Given the description of an element on the screen output the (x, y) to click on. 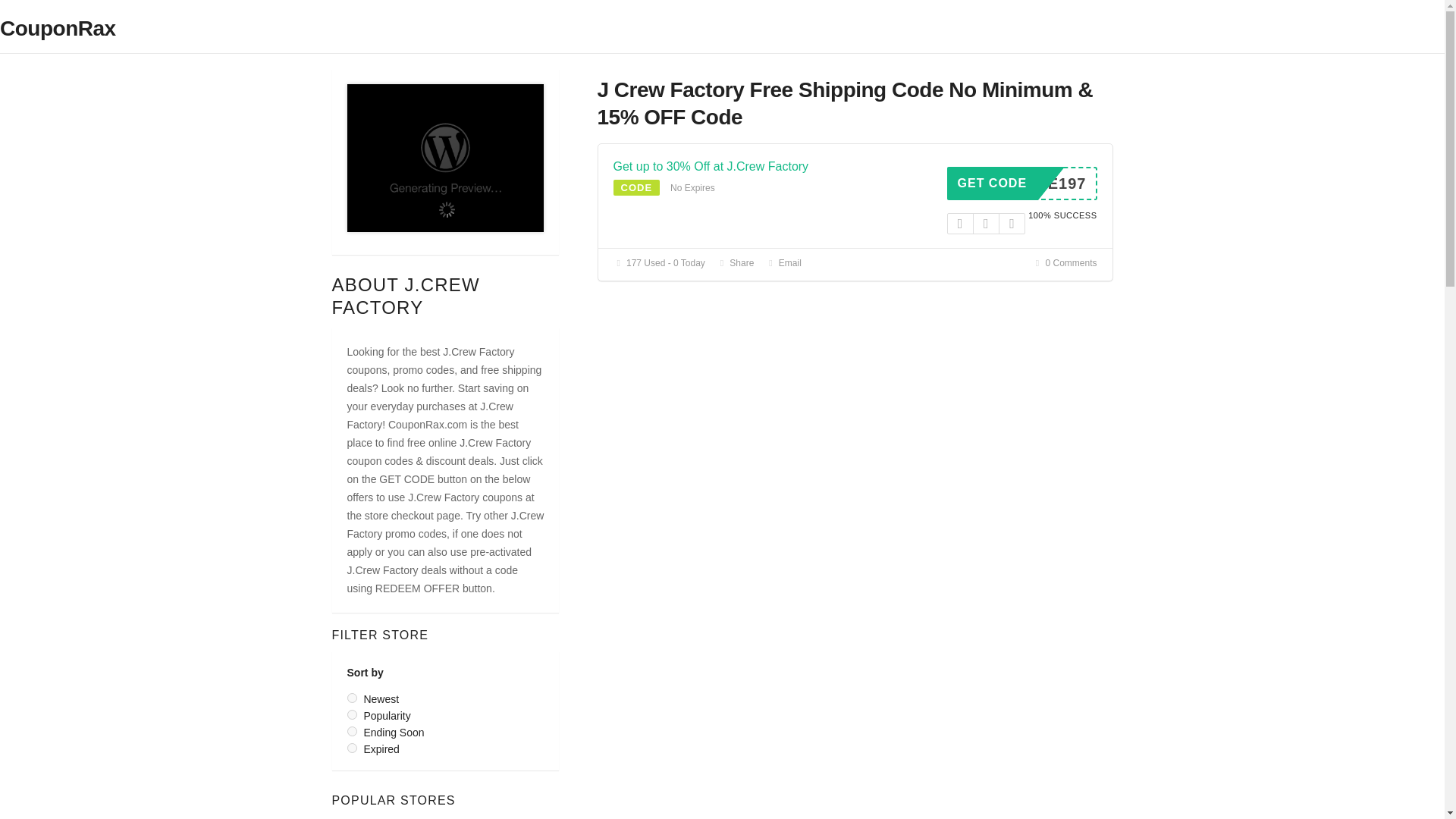
Email (783, 262)
newest (351, 697)
expired (351, 747)
Share it with your friend (735, 262)
ending-soon (351, 731)
0 Comments (1064, 262)
Send this coupon to an email (783, 262)
Shop J.Crew Factory (445, 156)
Share (1022, 183)
